Given the description of an element on the screen output the (x, y) to click on. 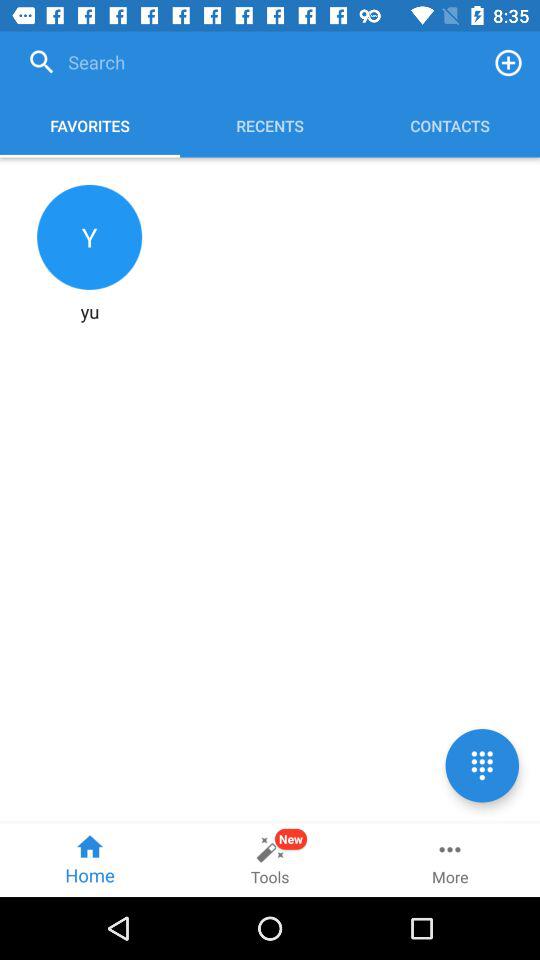
call (482, 765)
